Given the description of an element on the screen output the (x, y) to click on. 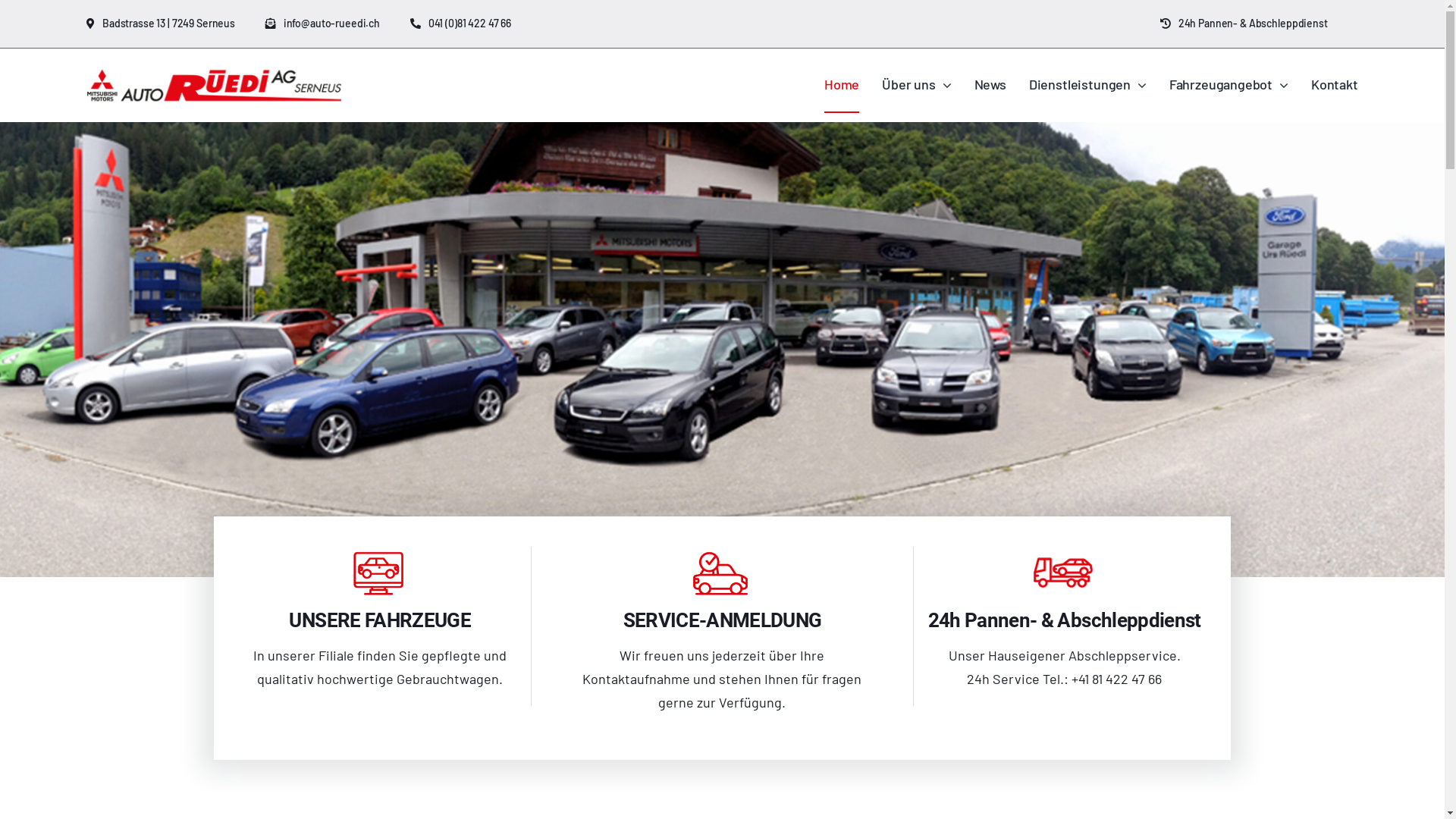
Dienstleistungen Element type: text (1087, 85)
Badstrasse 13 | 7249 Serneus Element type: text (175, 23)
041 (0)81 422 47 66 Element type: text (475, 23)
News Element type: text (990, 85)
Home Element type: text (841, 85)
info@auto-rueedi.ch Element type: text (337, 23)
Kontakt Element type: text (1334, 85)
24h Pannen- & Abschleppdienst Element type: text (1259, 23)
Fahrzeugangebot Element type: text (1228, 85)
